Given the description of an element on the screen output the (x, y) to click on. 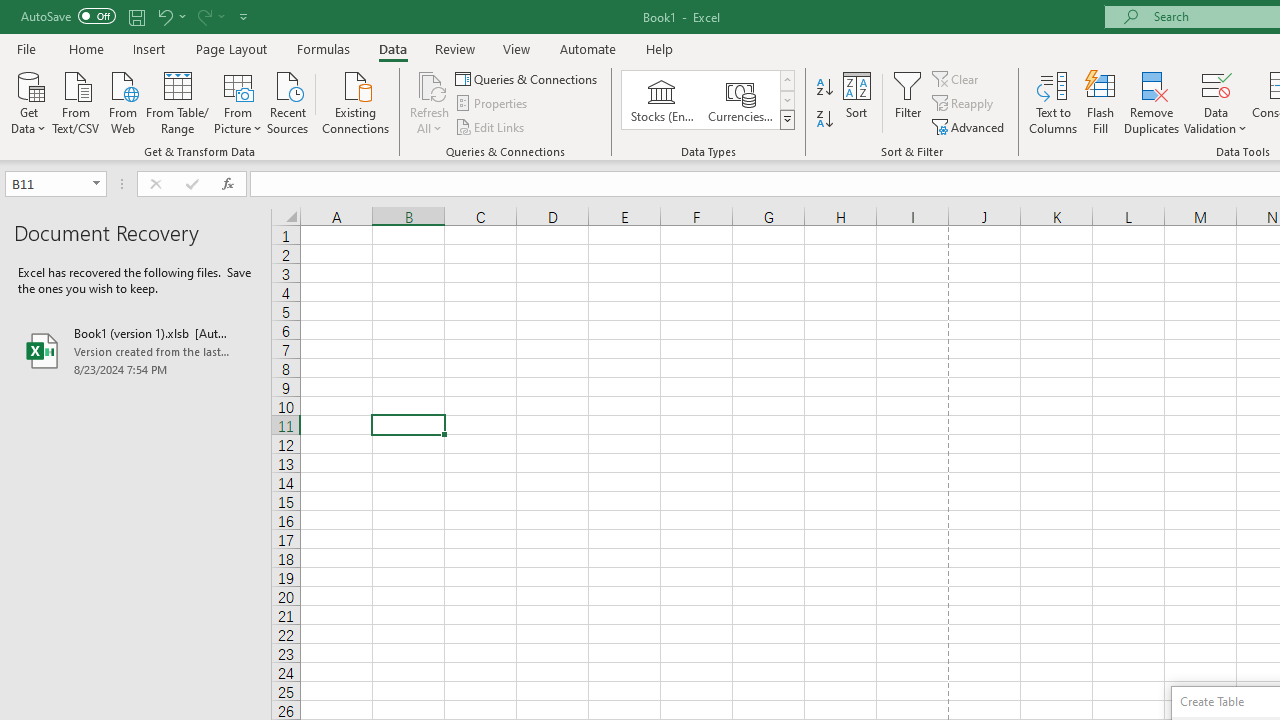
Reapply (964, 103)
Recent Sources (287, 101)
Data Types (786, 120)
Queries & Connections (527, 78)
Currencies (English) (740, 100)
